Given the description of an element on the screen output the (x, y) to click on. 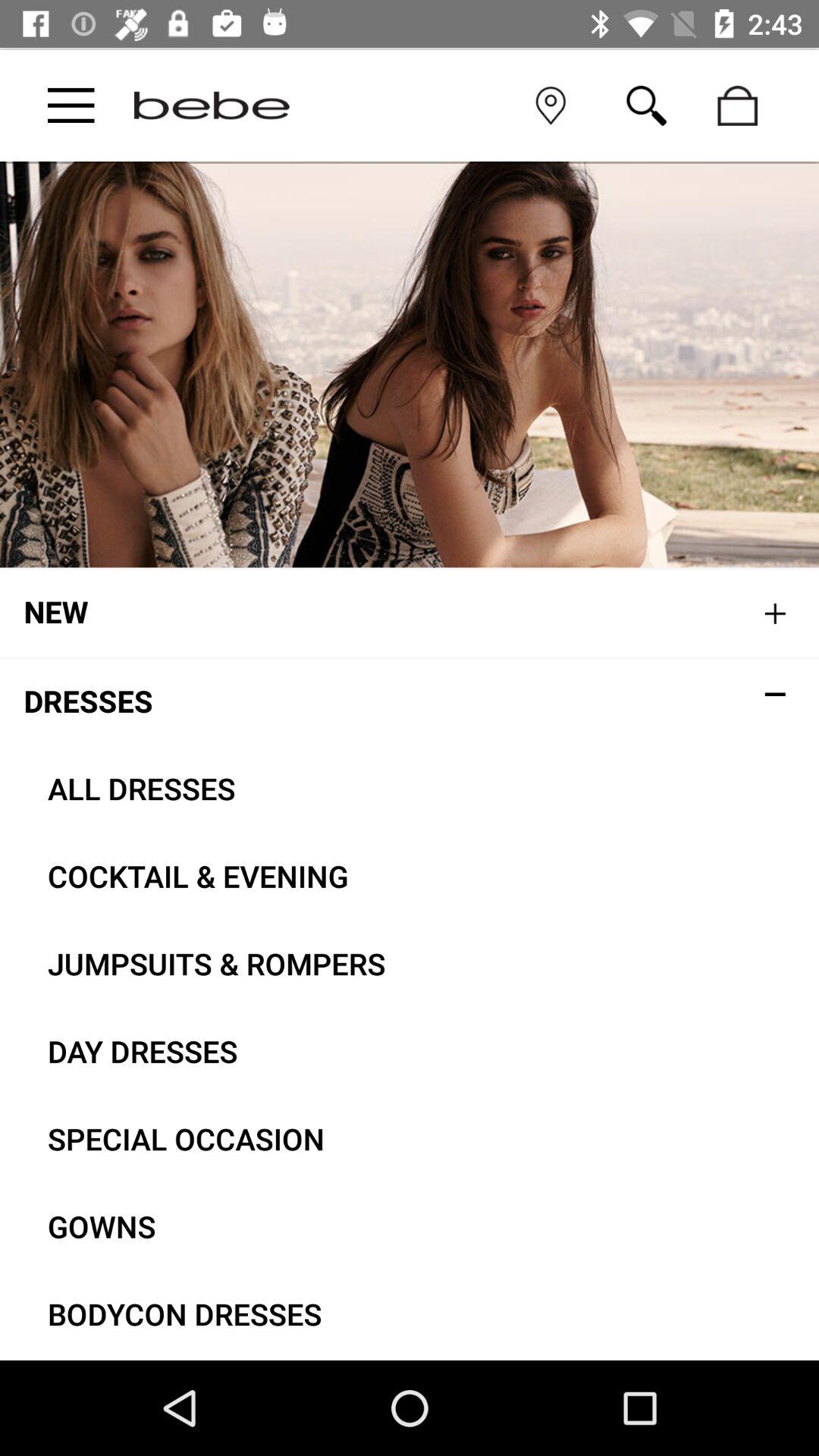
select a pulldown meni (70, 105)
